Given the description of an element on the screen output the (x, y) to click on. 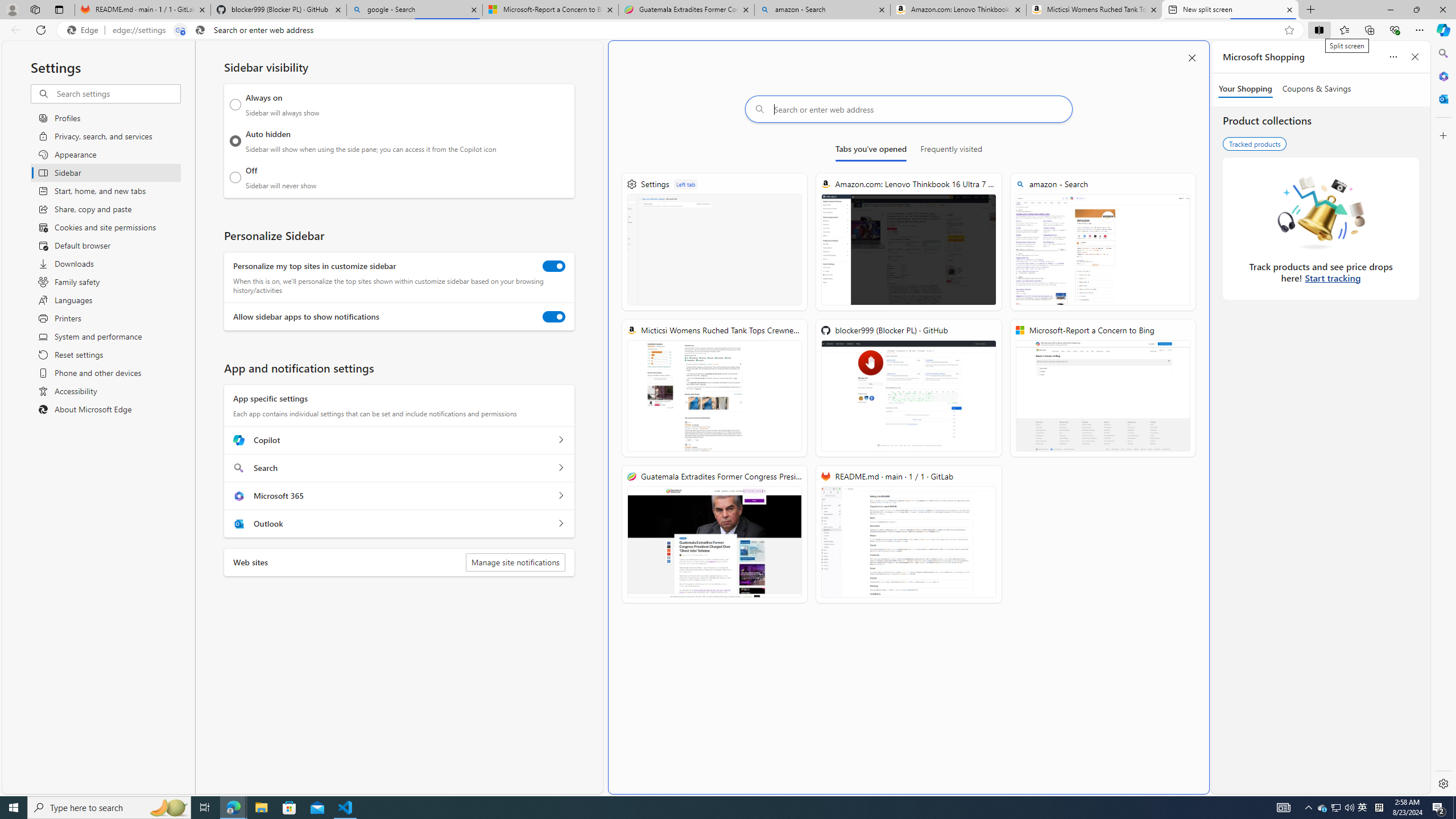
Minimize (1390, 9)
Close split screen (1192, 57)
Microsoft-Report a Concern to Bing (550, 9)
Back (13, 29)
Browser essentials (1394, 29)
Personalize my top sites in customize sidebar (553, 265)
Restore (1416, 9)
Copilot (Ctrl+Shift+.) (1442, 29)
New Tab (1311, 9)
